Given the description of an element on the screen output the (x, y) to click on. 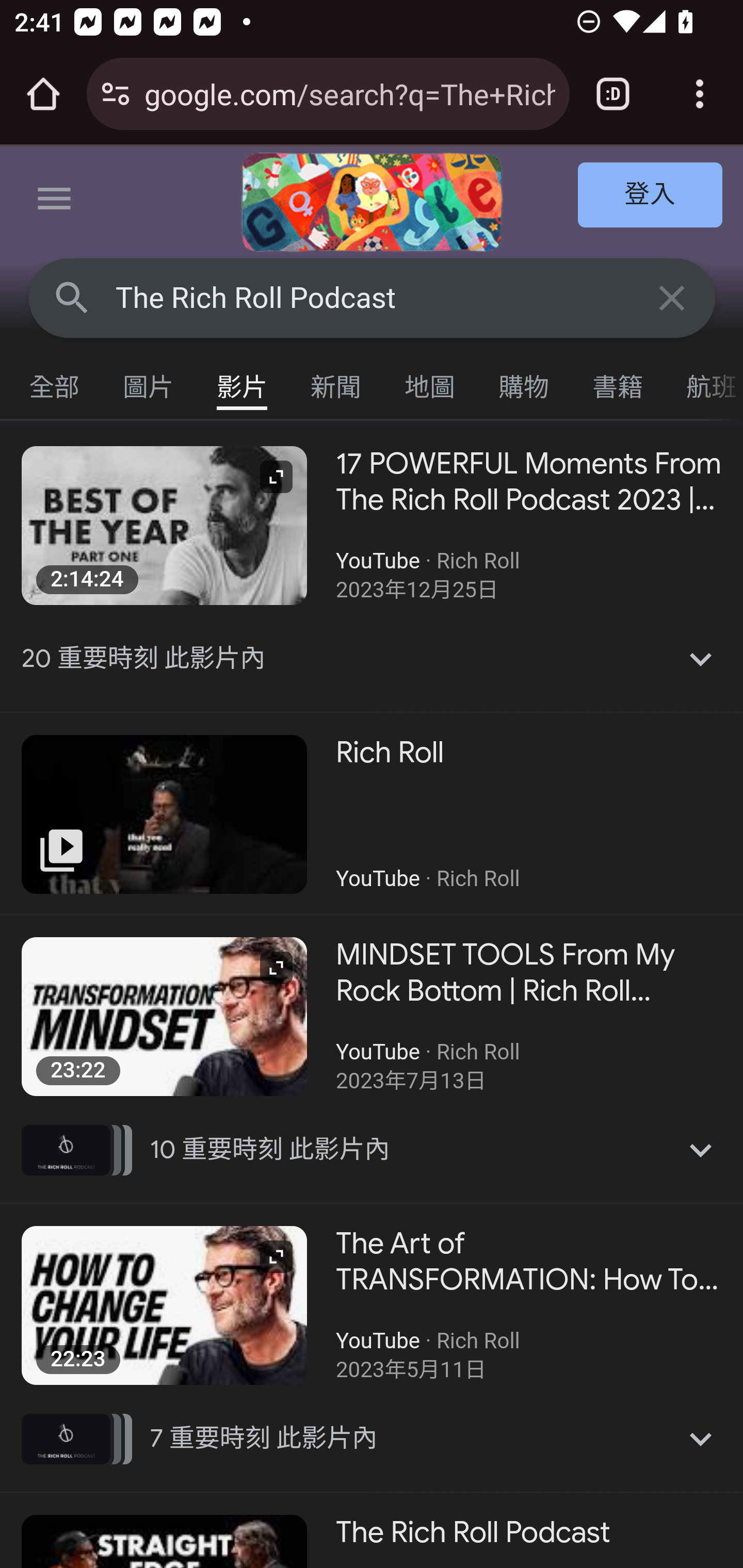
Open the home page (43, 93)
Connection is secure (115, 93)
Switch or close tabs (612, 93)
Customize and control Google Chrome (699, 93)
2024 年國際婦女節 (371, 202)
主選單 (54, 202)
登入 (650, 195)
Google 搜尋 (71, 296)
清除搜尋內容 (672, 296)
The Rich Roll Podcast (372, 297)
全部 (54, 382)
圖片 (148, 382)
新聞 (336, 382)
地圖 (430, 382)
購物 (524, 382)
書籍 (618, 382)
航班 (703, 382)
20 重要時刻 此影片內 (372, 658)
Rich Roll 喺YouTube發佈嘅Rich Roll影片 (371, 814)
10 重要時刻 此影片內 (372, 1149)
7 重要時刻 此影片內 (372, 1438)
